Given the description of an element on the screen output the (x, y) to click on. 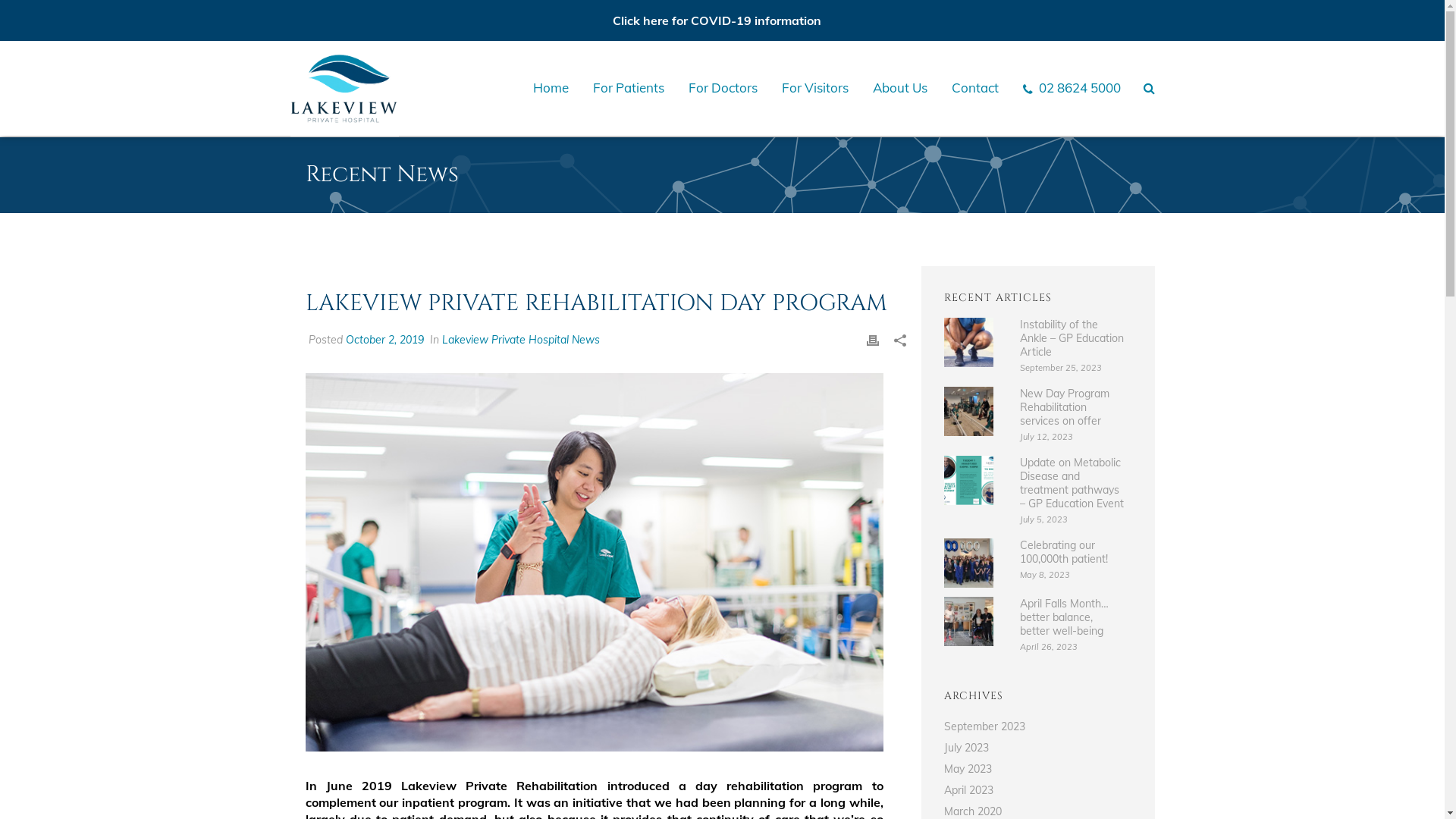
July 2023 Element type: text (966, 747)
Rehabilitation Norwest | Lakeview Private Hospital Element type: hover (593, 562)
Home Element type: text (550, 86)
October 2, 2019 Element type: text (384, 339)
March 2020 Element type: text (972, 811)
New Day Program Rehabilitation services on offer Element type: text (1071, 406)
Celebrating our 100,000th patient! Element type: hover (968, 562)
For Doctors Element type: text (722, 86)
Lakeview Private Hospital News Element type: text (520, 339)
Contact Element type: text (975, 86)
May 2023 Element type: text (967, 768)
Celebrating our 100,000th patient! Element type: text (1071, 551)
For Patients Element type: text (628, 86)
Print Element type: hover (872, 339)
April 2023 Element type: text (968, 790)
Click here for COVID-19 information Element type: text (716, 20)
About Us Element type: text (900, 86)
New Day Program Rehabilitation services on offer Element type: hover (968, 411)
02 8624 5000 Element type: text (1071, 86)
September 2023 Element type: text (984, 726)
For Visitors Element type: text (815, 86)
